Given the description of an element on the screen output the (x, y) to click on. 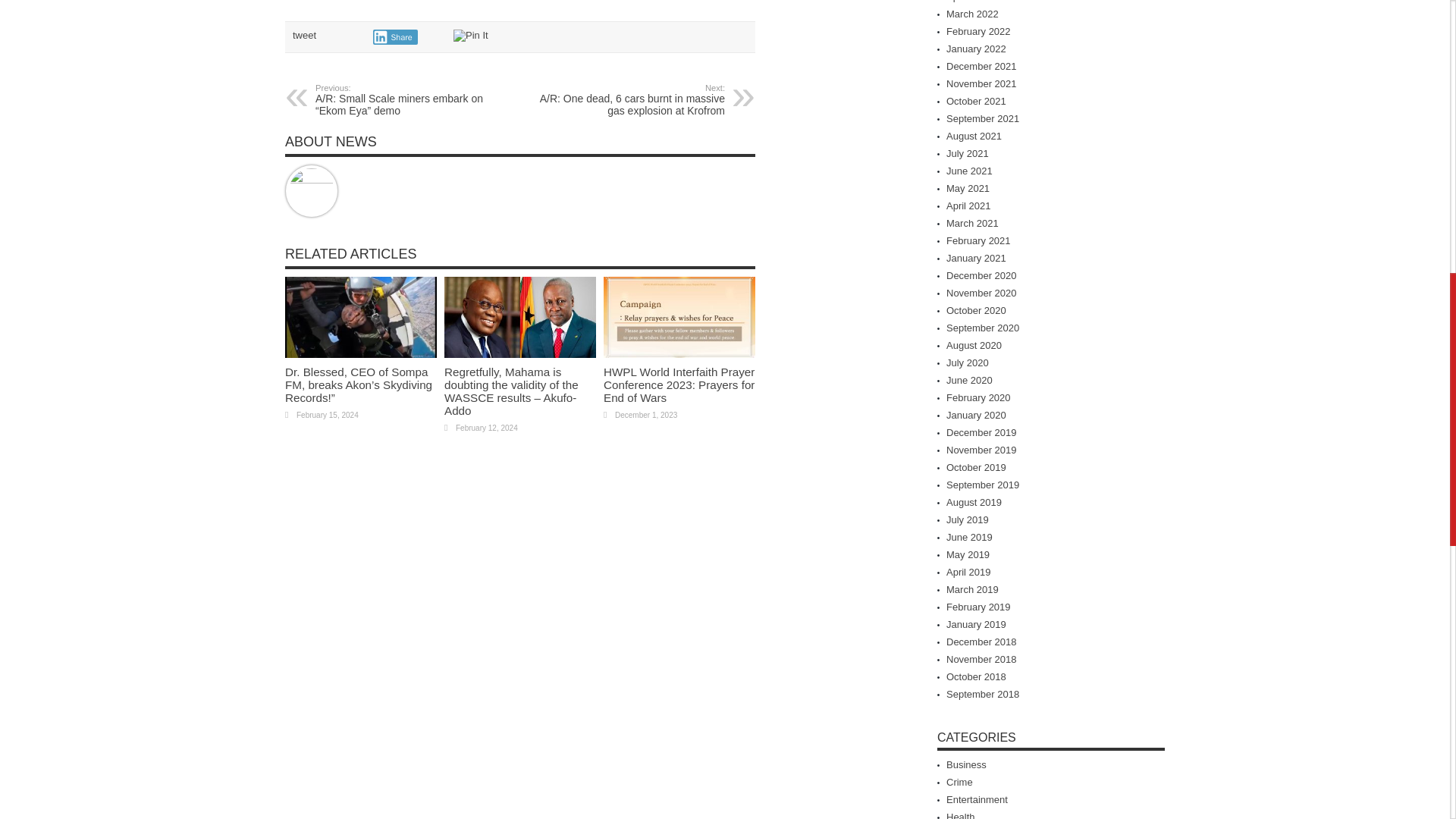
tweet (303, 34)
Share (394, 37)
